Given the description of an element on the screen output the (x, y) to click on. 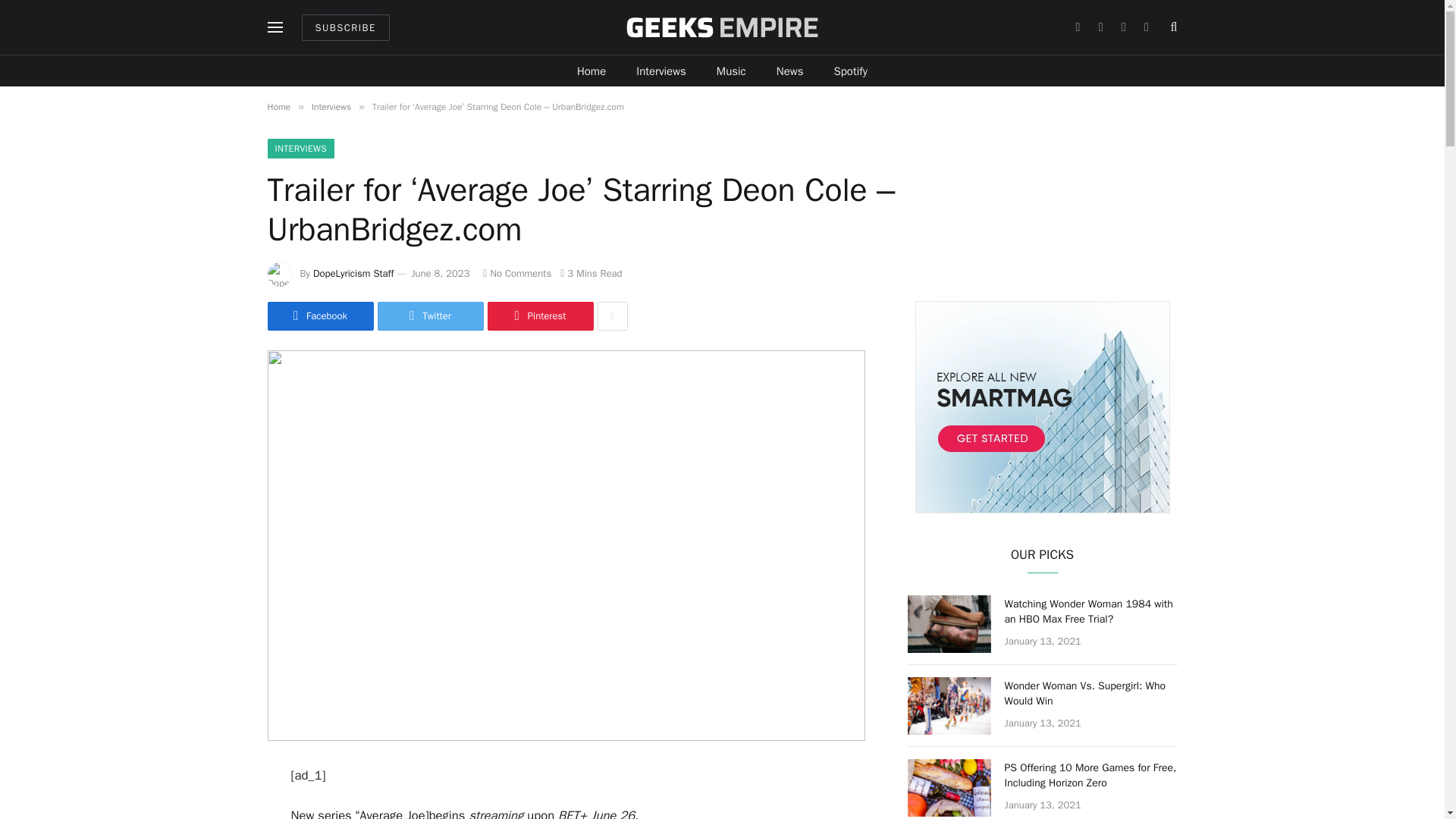
DopeLyricism Staff (353, 273)
Spotify (850, 70)
INTERVIEWS (300, 148)
No Comments (517, 273)
Posts by DopeLyricism Staff (353, 273)
Pinterest (539, 316)
Home (277, 106)
SUBSCRIBE (345, 26)
Facebook (319, 316)
Share on Pinterest (539, 316)
